Given the description of an element on the screen output the (x, y) to click on. 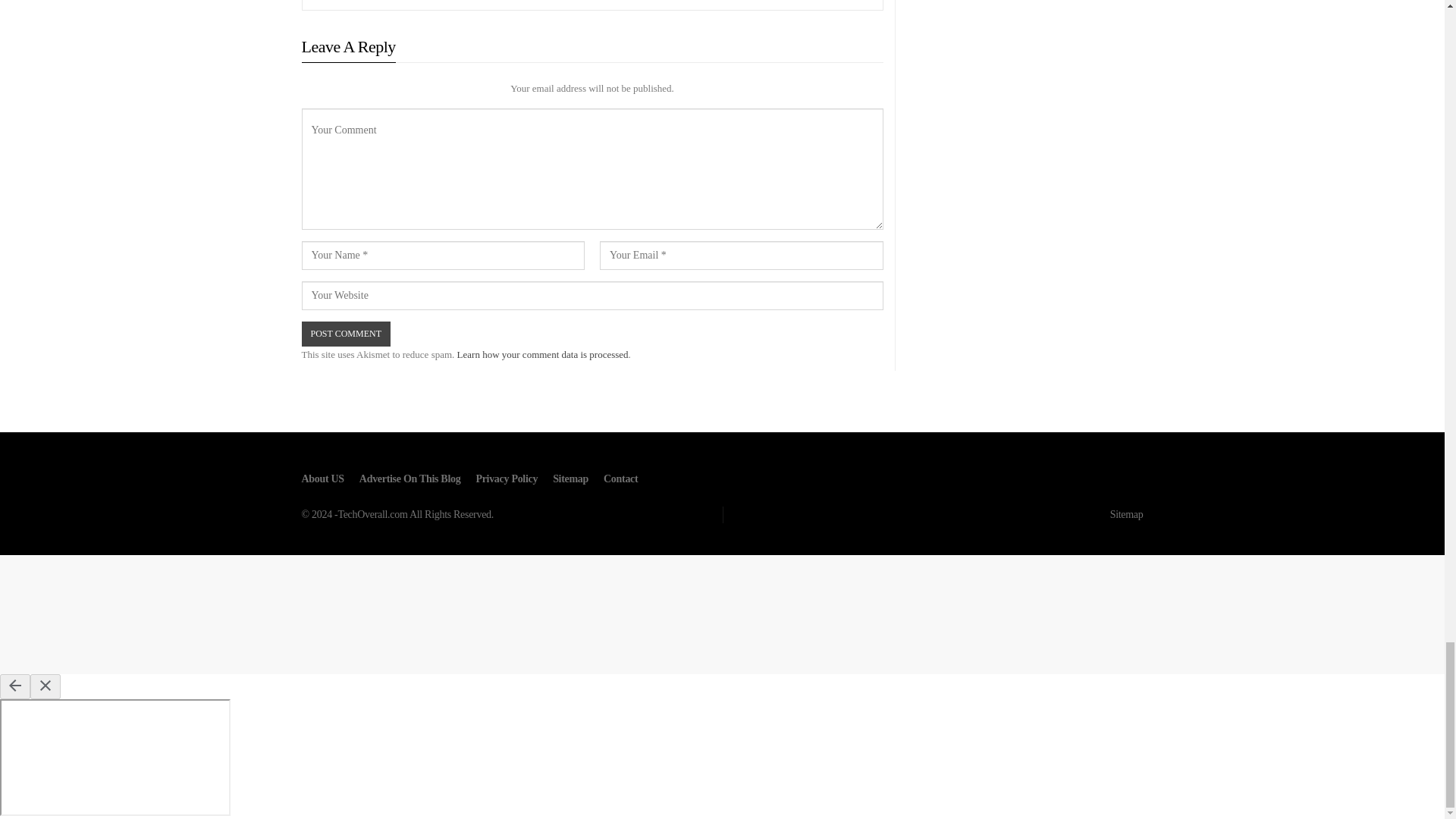
Post Comment (345, 333)
